Given the description of an element on the screen output the (x, y) to click on. 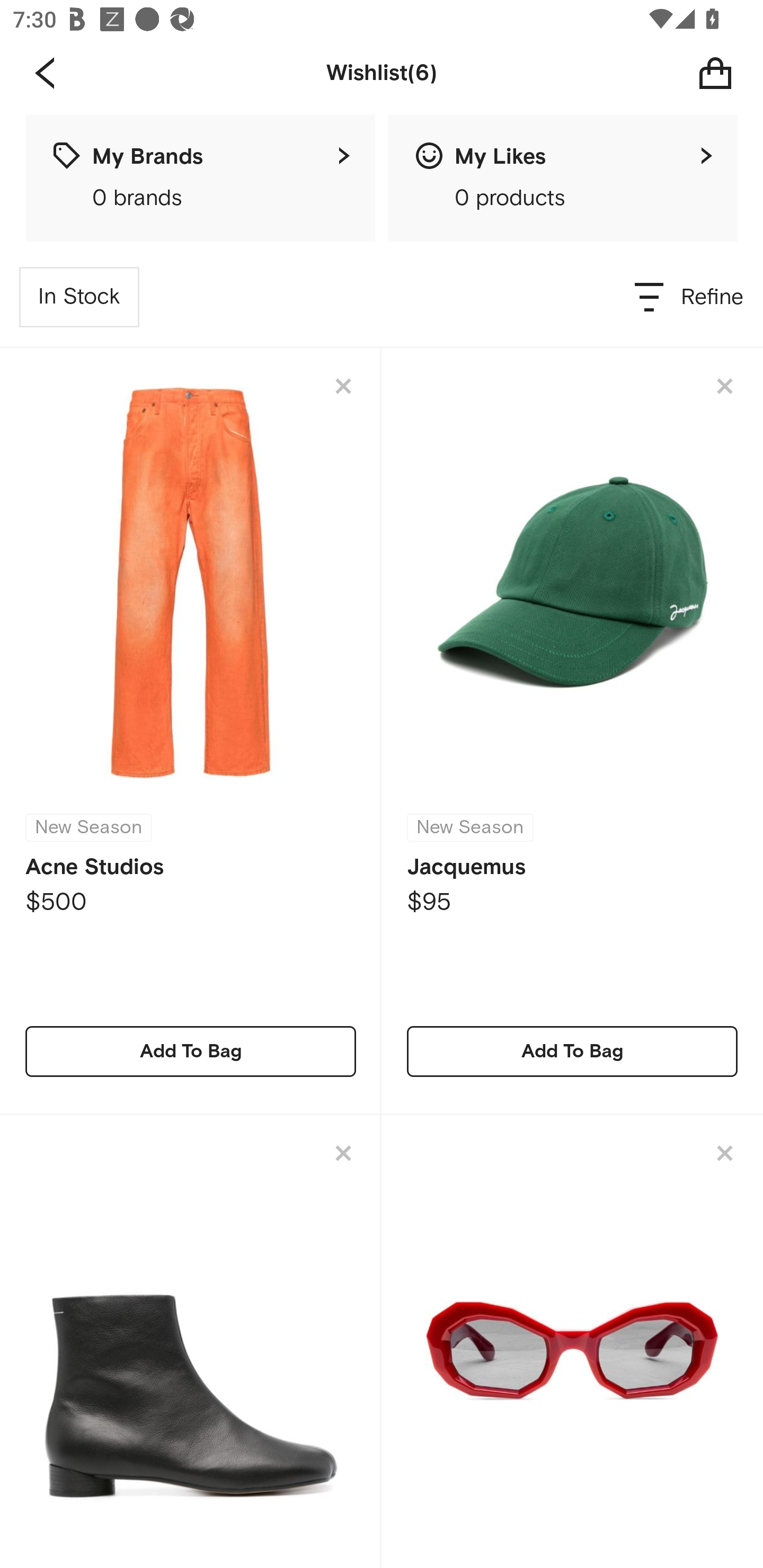
My Brands 0 brands (200, 177)
My Likes 0 products (562, 177)
In Stock (79, 296)
Refine (690, 296)
New Season Acne Studios $500 Add To Bag (190, 731)
New Season Jacquemus $95 Add To Bag (572, 731)
Add To Bag (190, 1050)
Add To Bag (571, 1050)
